Given the description of an element on the screen output the (x, y) to click on. 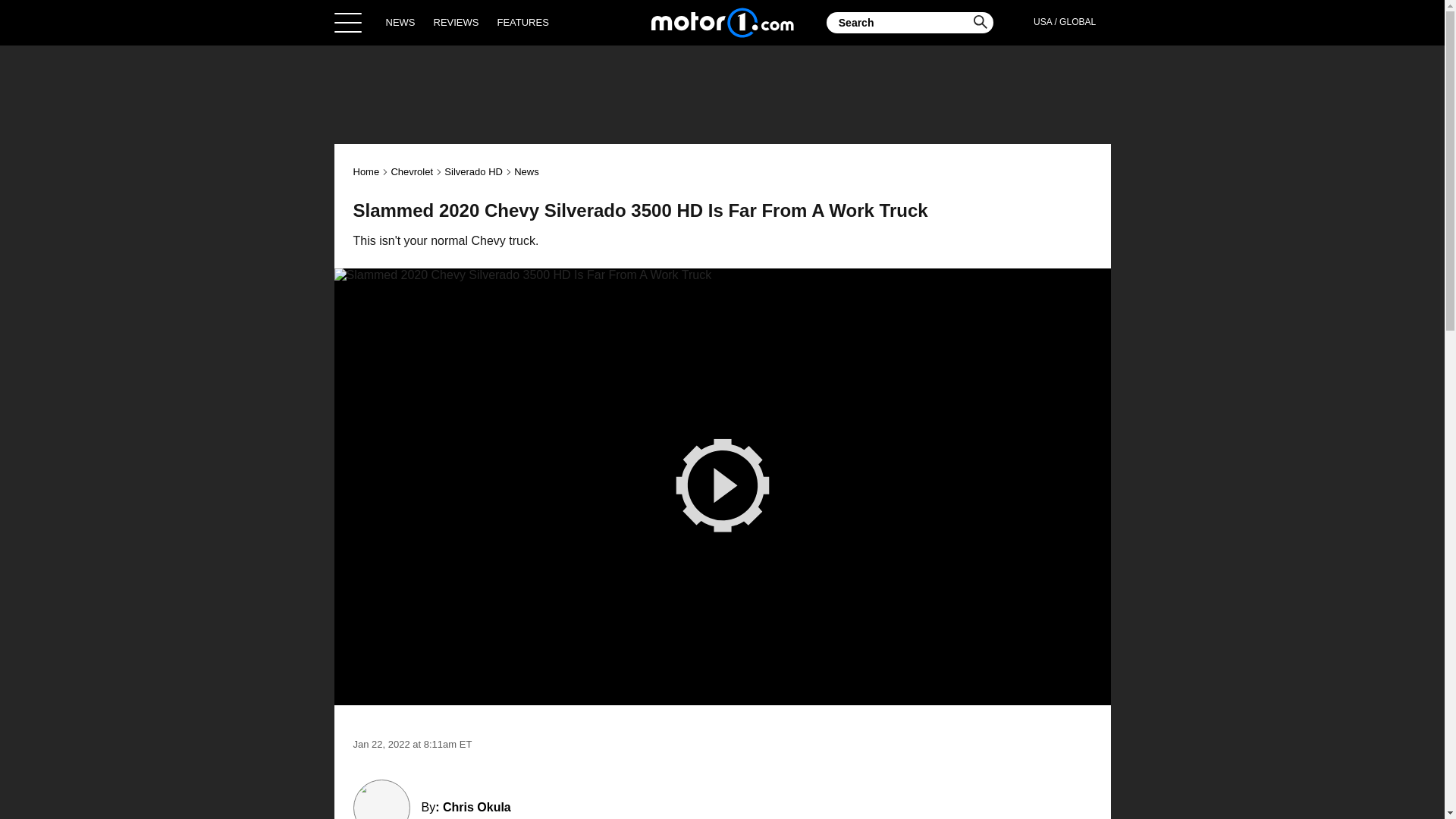
Chris Okula (476, 807)
Home (366, 171)
Silverado HD (473, 171)
Home (721, 22)
Chevrolet (411, 171)
NEWS (399, 22)
FEATURES (522, 22)
News (525, 171)
REVIEWS (456, 22)
